Given the description of an element on the screen output the (x, y) to click on. 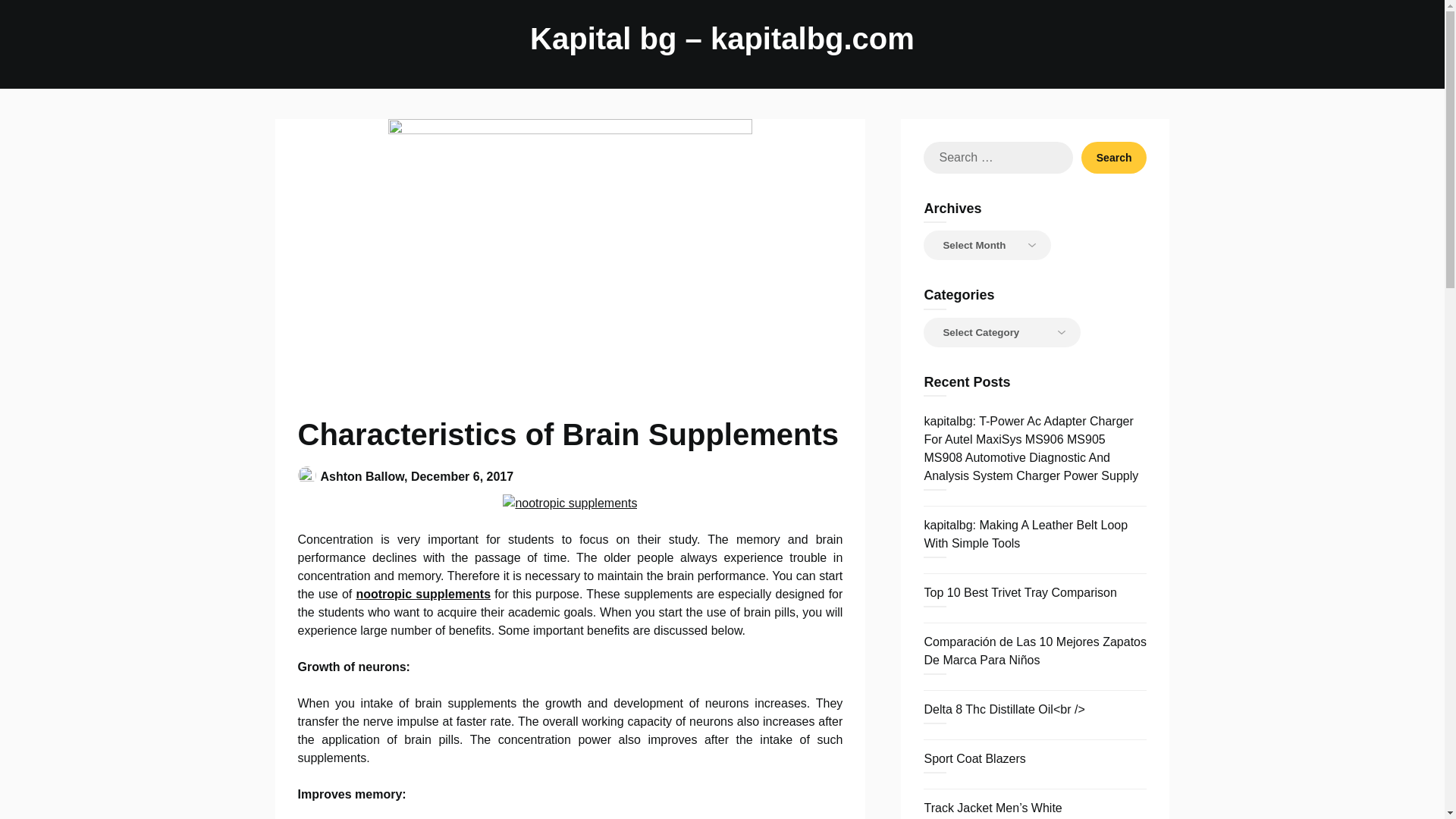
Search (1114, 157)
Sport Coat Blazers (974, 758)
nootropic supplements (569, 503)
Top 10 Best Trivet Tray Comparison (1019, 592)
Search (1114, 157)
December 6, 2017 (461, 476)
kapitalbg: Making A Leather Belt Loop With Simple Tools (1024, 533)
nootropic supplements (422, 594)
Search (1114, 157)
